Given the description of an element on the screen output the (x, y) to click on. 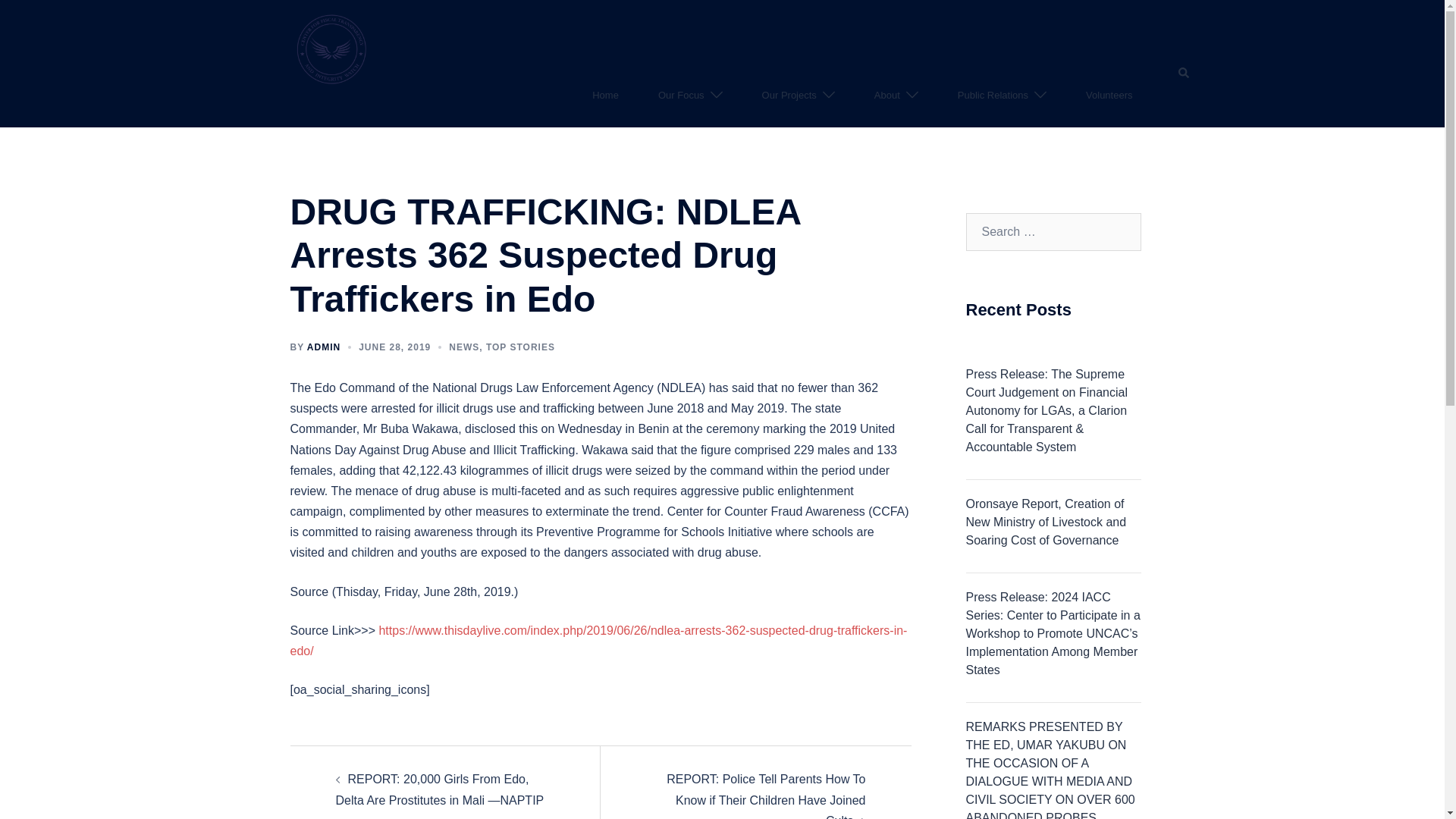
Home (605, 95)
Our Focus (681, 95)
Public Relations (992, 95)
Our Projects (788, 95)
About (887, 95)
Fiscal Transparency (331, 47)
